Given the description of an element on the screen output the (x, y) to click on. 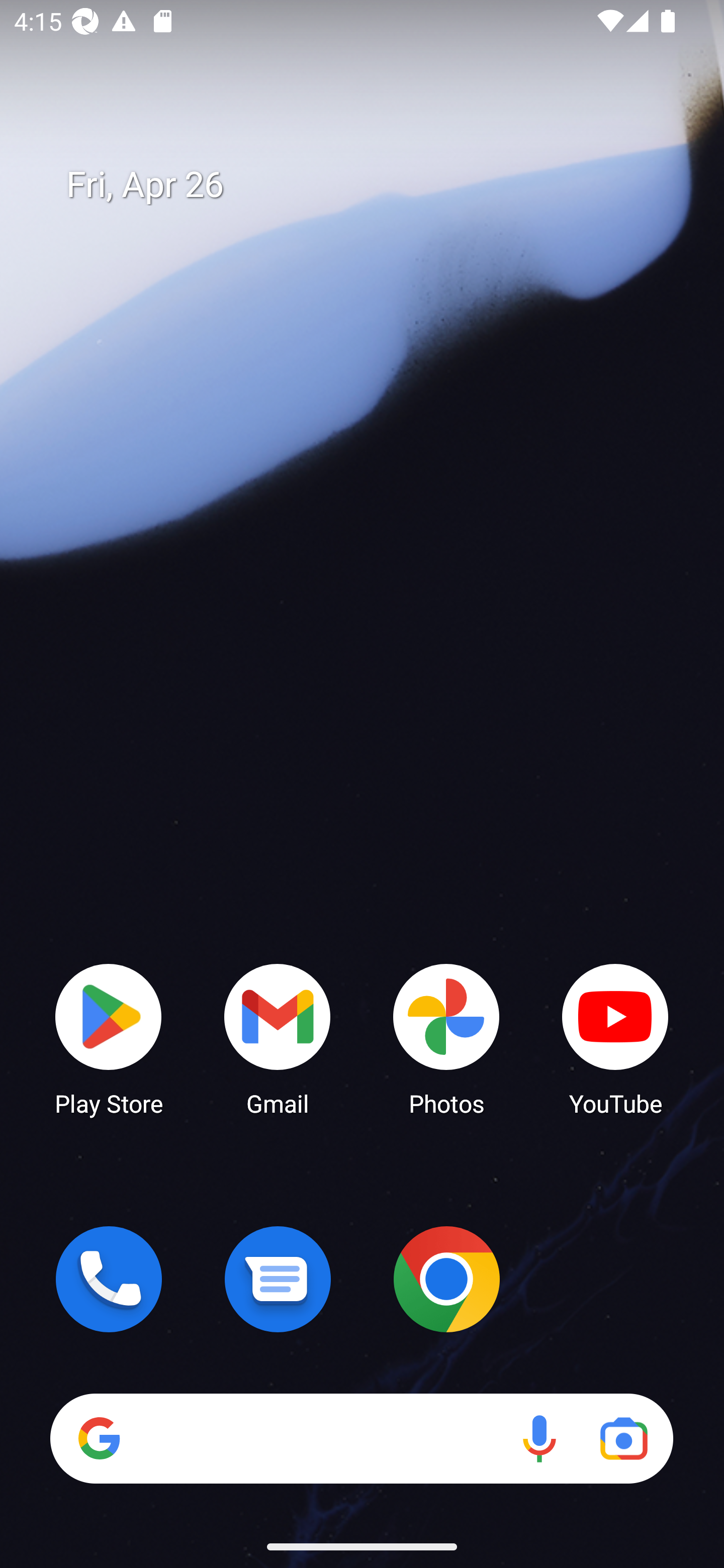
Fri, Apr 26 (375, 184)
Play Store (108, 1038)
Gmail (277, 1038)
Photos (445, 1038)
YouTube (615, 1038)
Phone (108, 1279)
Messages (277, 1279)
Chrome (446, 1279)
Search Voice search Google Lens (361, 1438)
Voice search (539, 1438)
Google Lens (623, 1438)
